Given the description of an element on the screen output the (x, y) to click on. 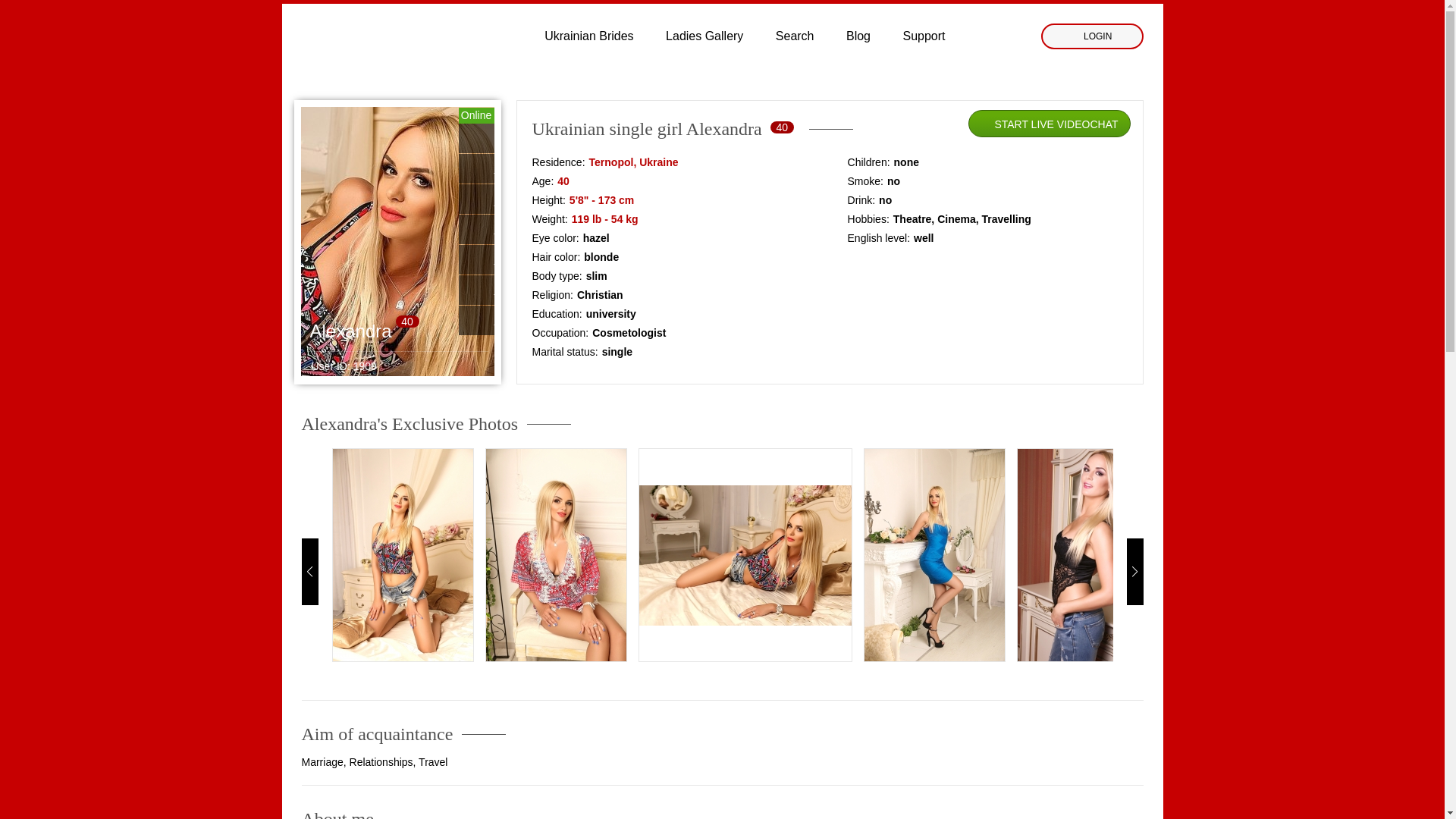
Ukrainian Brides (588, 36)
Support (923, 36)
Start live videochat (527, 138)
Search (794, 36)
Get phone number (527, 289)
Video clips (527, 198)
Blog (857, 36)
Send gift (527, 229)
Ladies Gallery (703, 36)
Write new message (527, 168)
LOGIN (1091, 36)
Add to favorites (527, 319)
Show interest (527, 259)
START LIVE VIDEOCHAT (1049, 124)
